Given the description of an element on the screen output the (x, y) to click on. 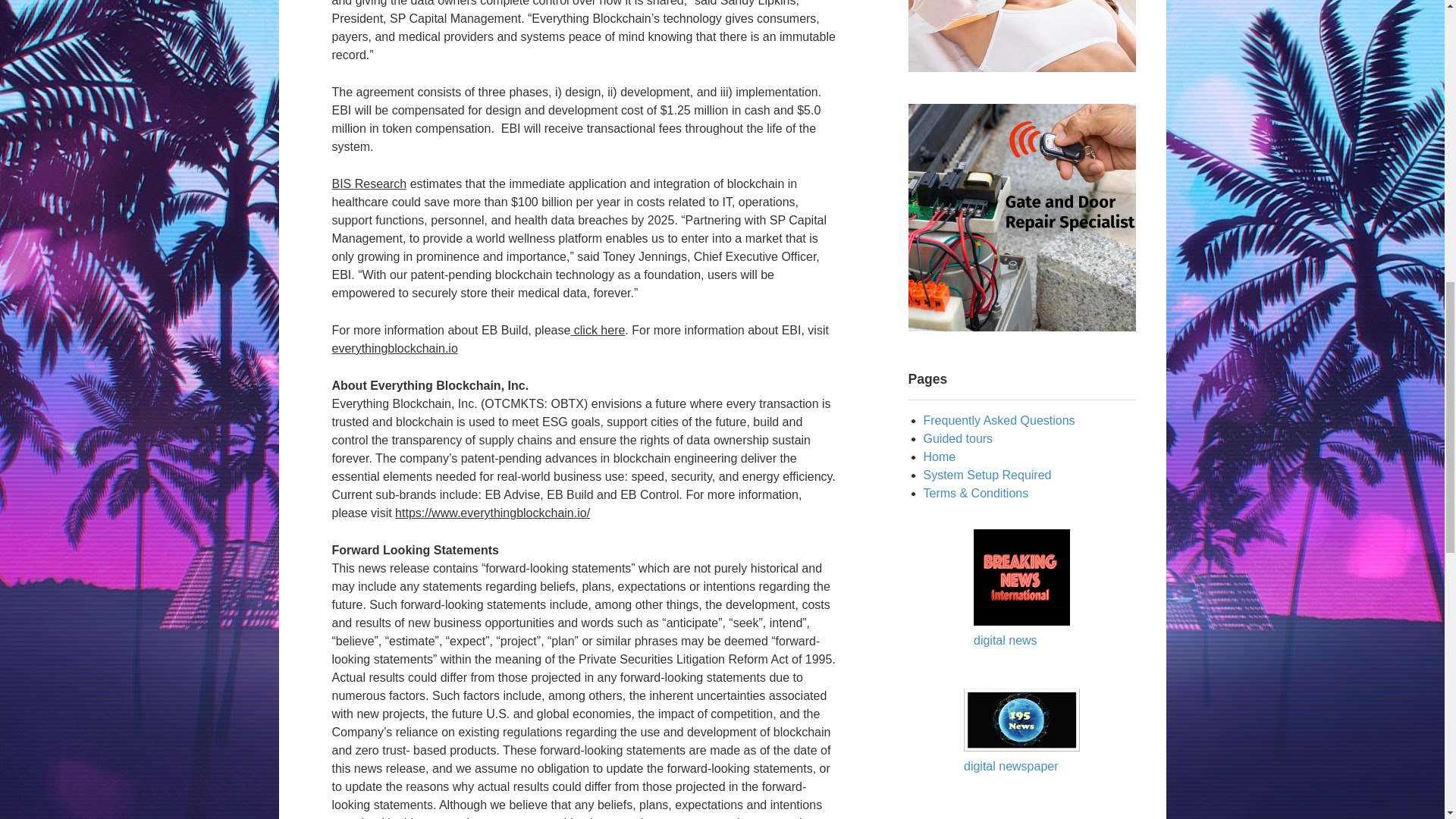
Frequently Asked Questions (999, 420)
MEDSPA in Miami (1021, 36)
